Given the description of an element on the screen output the (x, y) to click on. 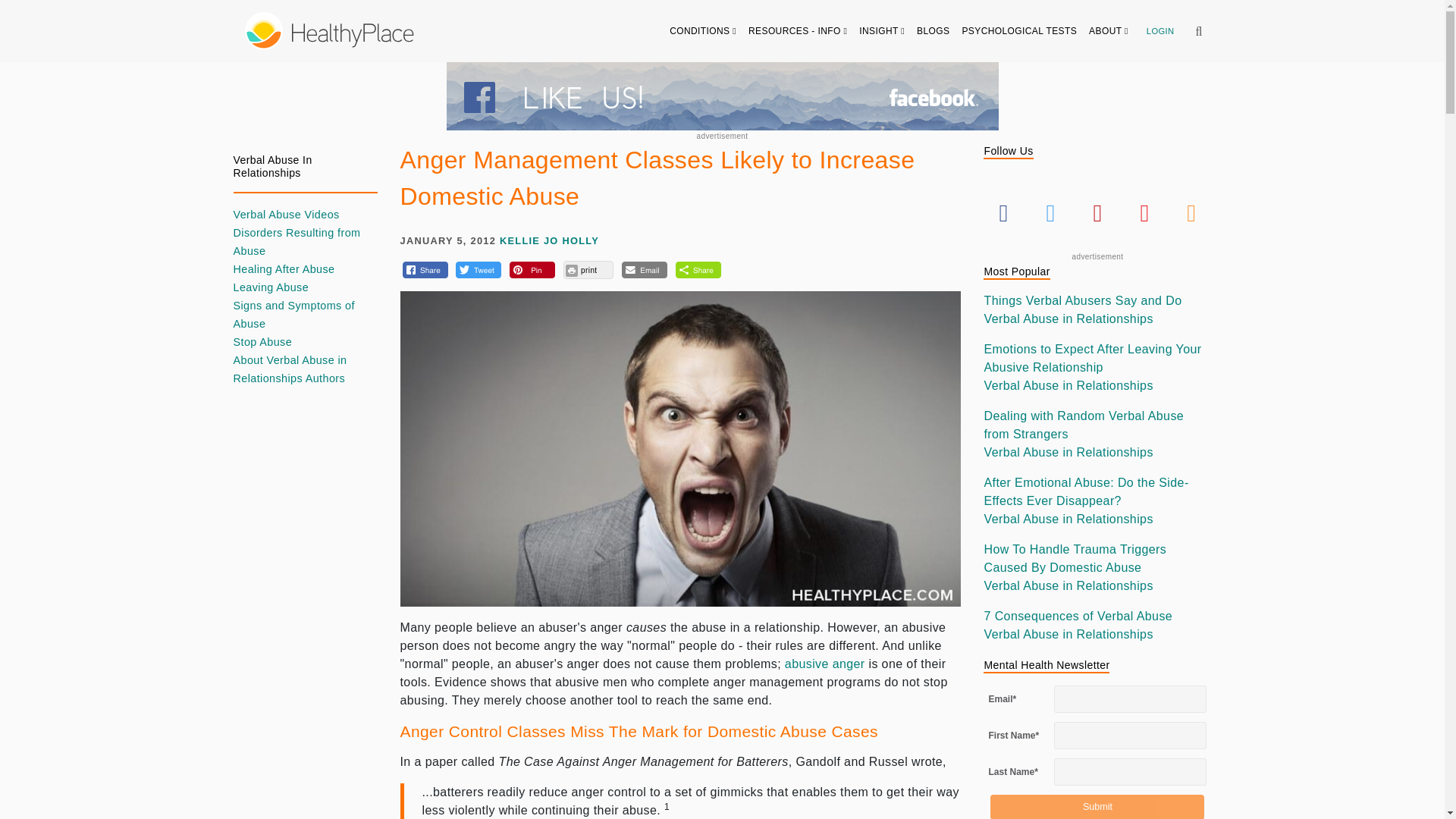
Submit (1097, 806)
Join our Facebook community for mental health support (721, 96)
INSIGHT (882, 31)
CONDITIONS (702, 31)
How Abusers Gain Control By Appearing to Lose It (824, 663)
RESOURCES - INFO (797, 31)
